Given the description of an element on the screen output the (x, y) to click on. 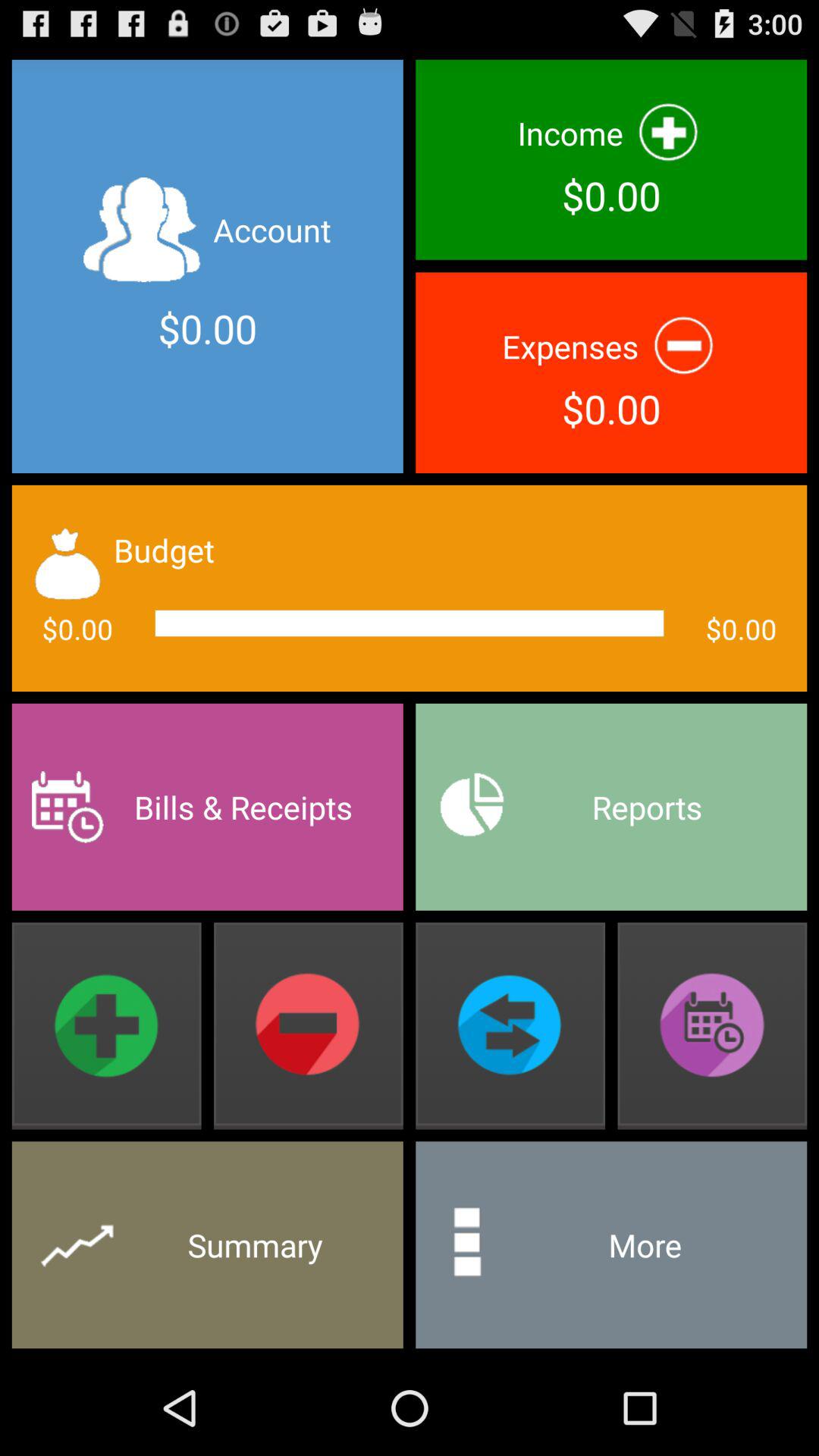
turn on app next to the reports icon (207, 806)
